Given the description of an element on the screen output the (x, y) to click on. 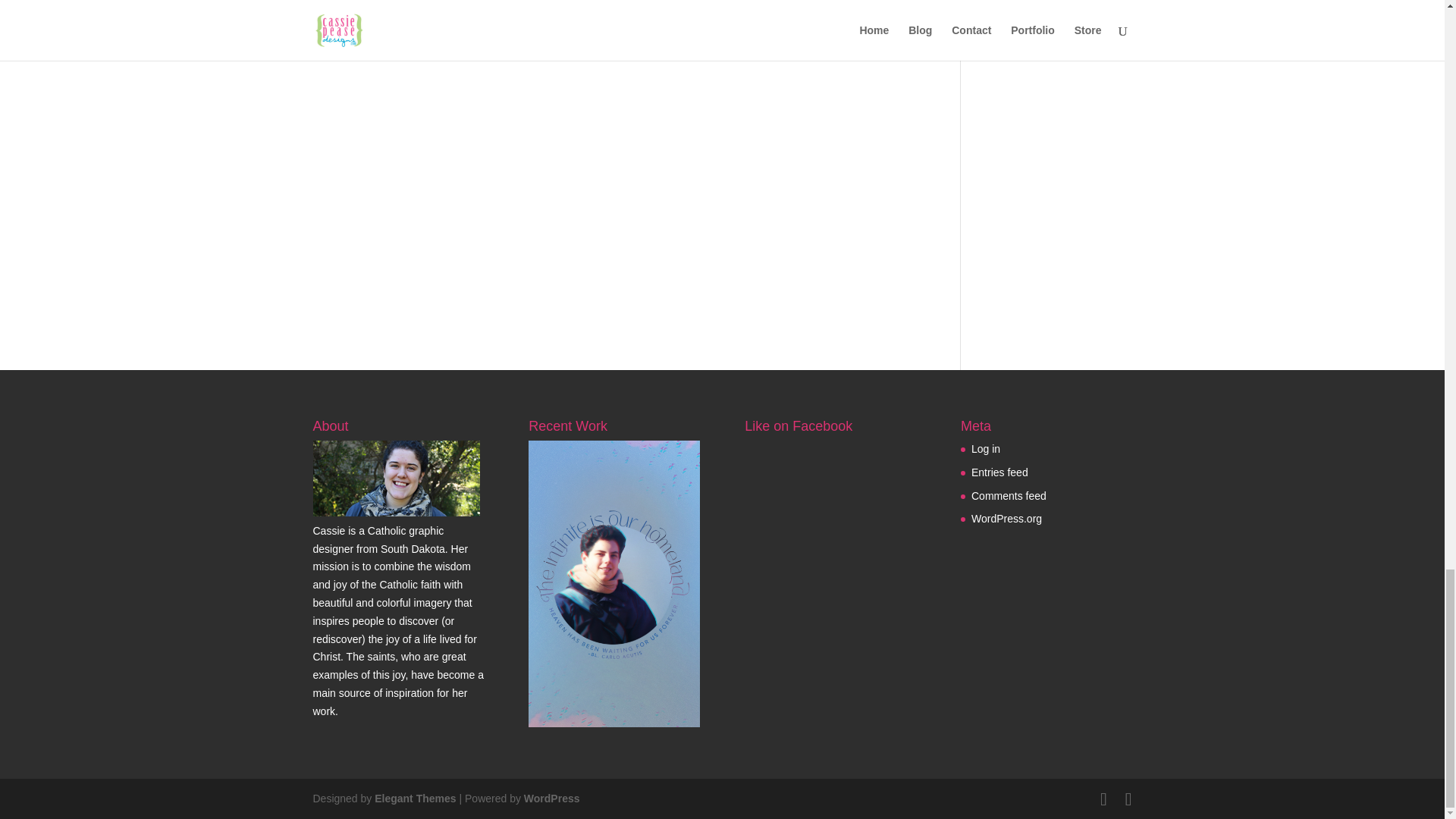
Comments feed (1008, 495)
Log in (985, 449)
Premium WordPress Themes (414, 797)
WordPress.org (1006, 518)
Entries feed (999, 472)
